Given the description of an element on the screen output the (x, y) to click on. 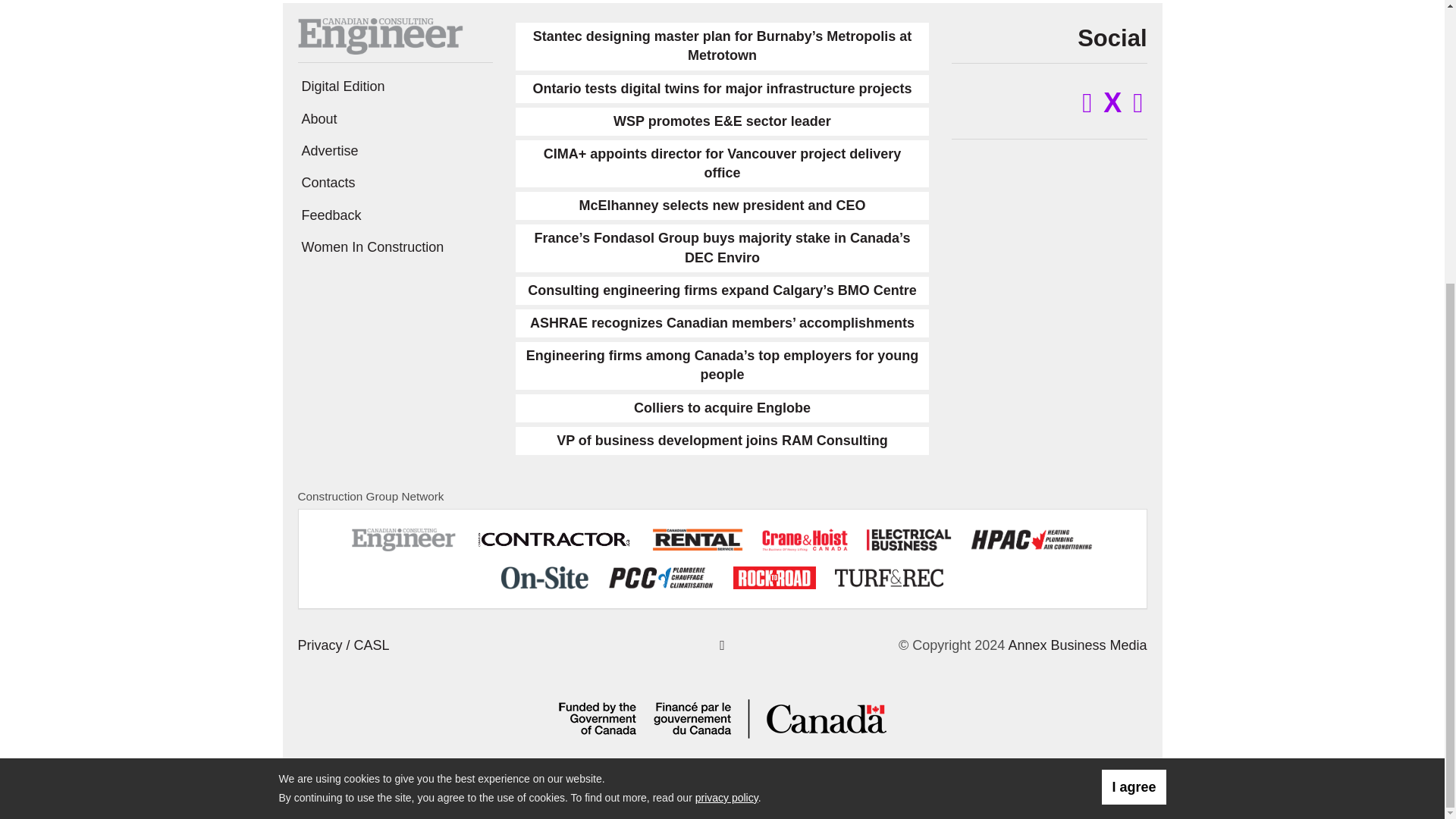
Canadian Consulting Engineer (380, 35)
3rd party ad content (133, 97)
Annex Business Media (1077, 645)
